Given the description of an element on the screen output the (x, y) to click on. 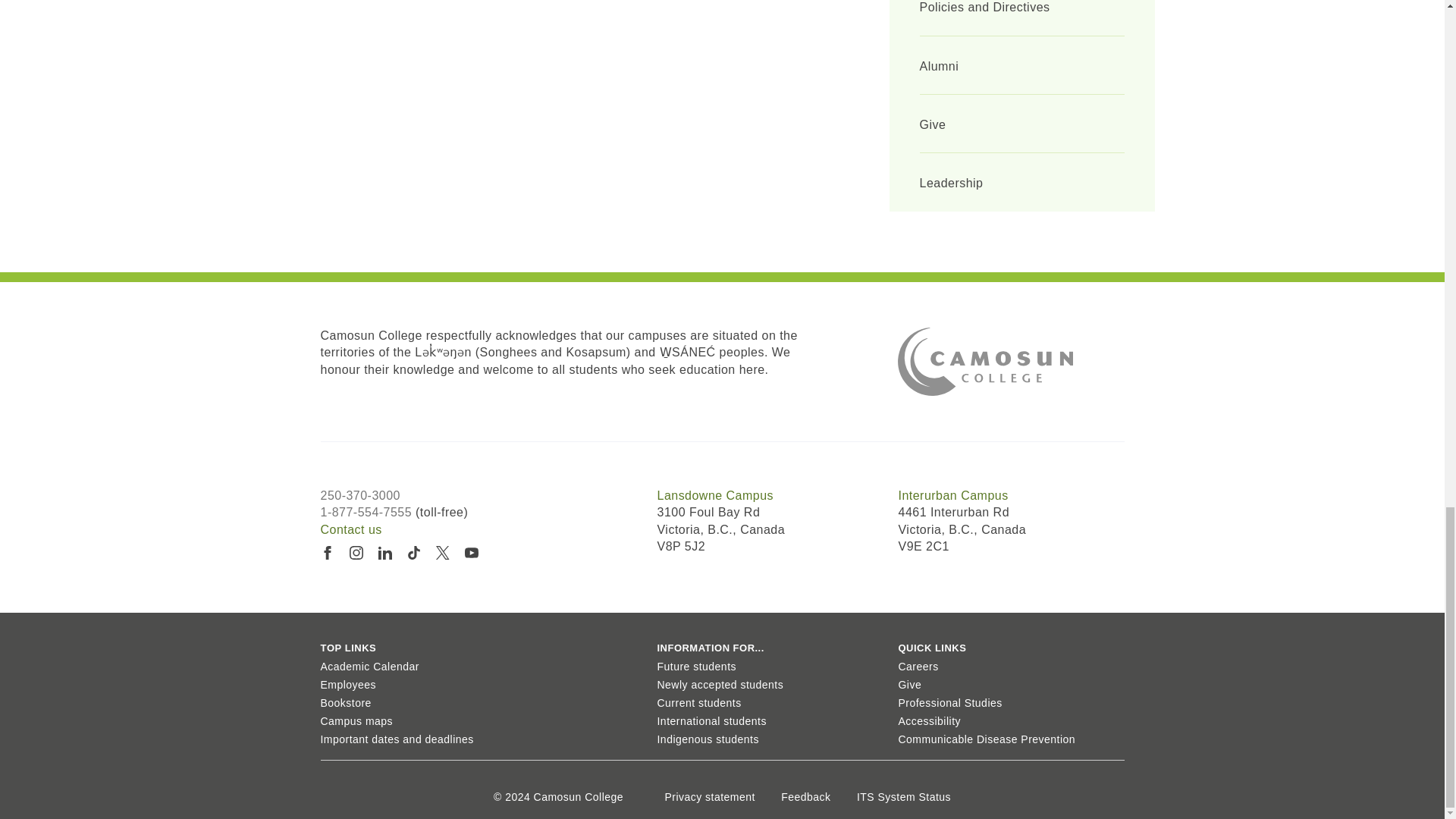
YouTube (470, 552)
Facebook (326, 552)
LinkedIn (383, 552)
Instagram (354, 552)
TikTok (413, 552)
Twitter (442, 552)
